Given the description of an element on the screen output the (x, y) to click on. 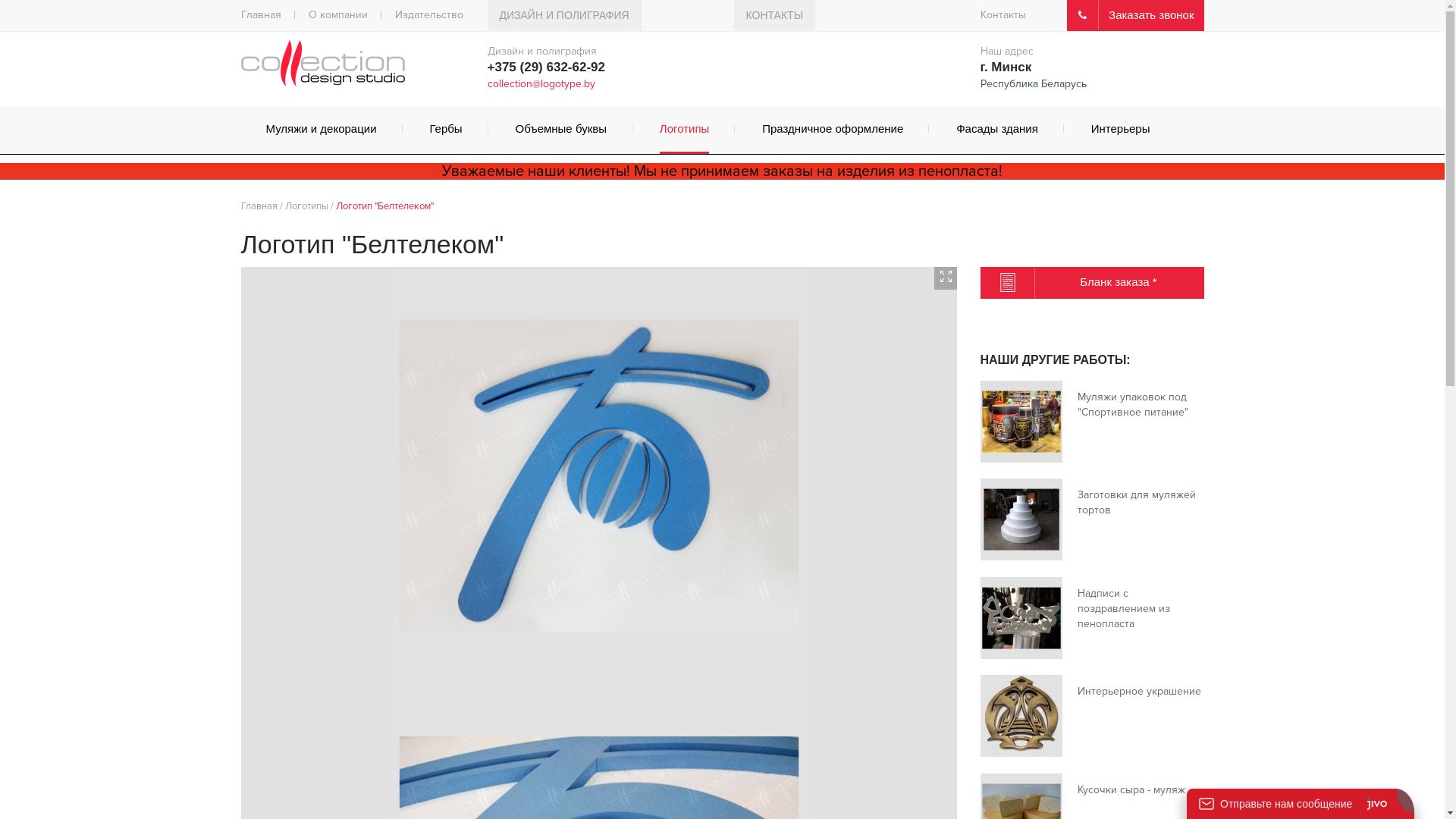
collection@logotype.by Element type: text (540, 83)
+375 (29) 632-62-92 Element type: text (545, 67)
